Given the description of an element on the screen output the (x, y) to click on. 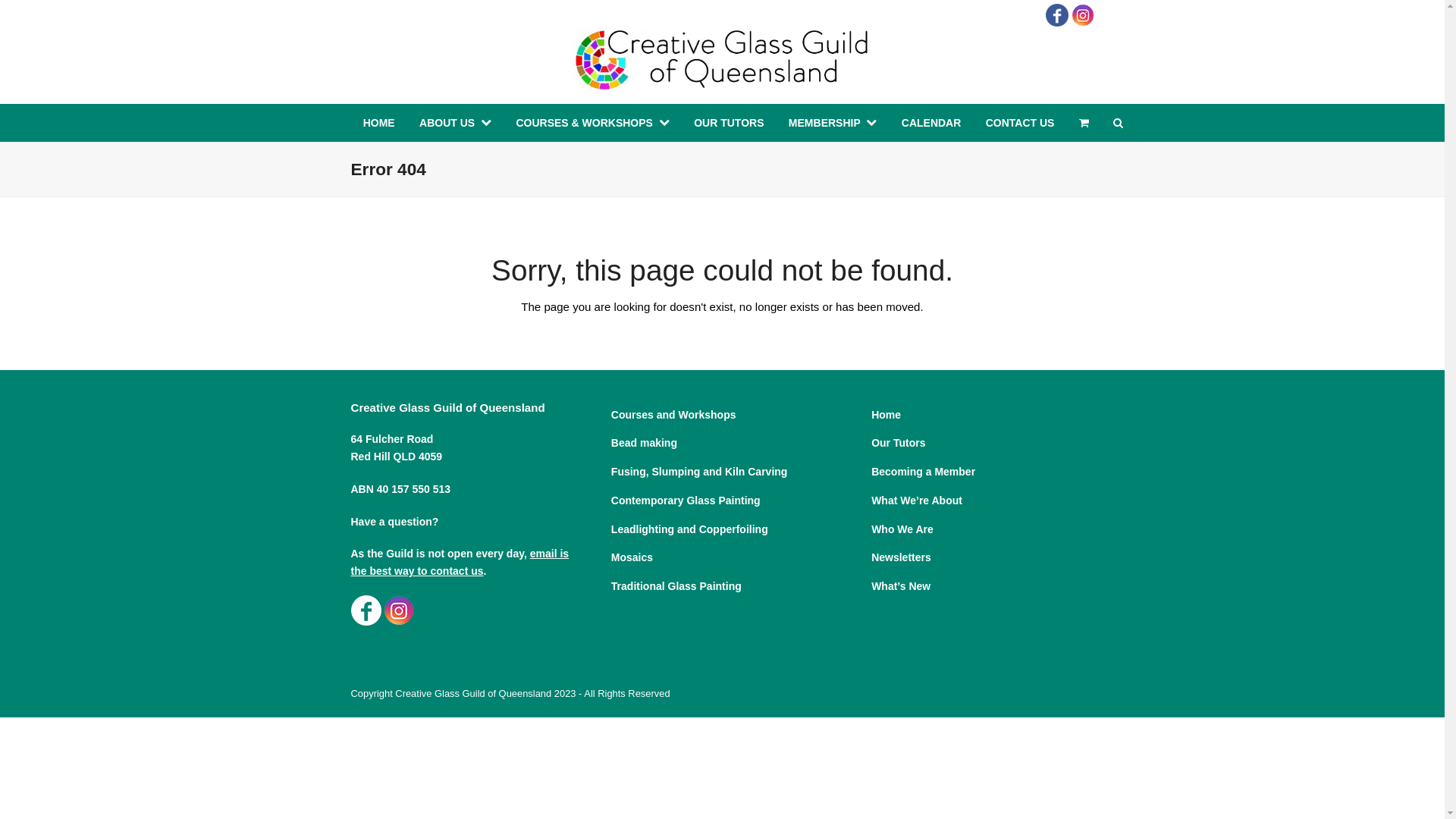
Leadlighting and Copperfoiling Element type: text (689, 529)
Fusing, Slumping and Kiln Carving Element type: text (699, 471)
ABOUT US Element type: text (455, 122)
Mosaics Element type: text (631, 557)
Becoming a Member Element type: text (923, 471)
Contemporary Glass Painting Element type: text (685, 500)
MEMBERSHIP Element type: text (832, 122)
Who We Are Element type: text (902, 529)
CONTACT US Element type: text (1019, 122)
Bead making Element type: text (644, 442)
Traditional Glass Painting Element type: text (676, 586)
Home Element type: text (885, 414)
email is the best way to contact us Element type: text (459, 562)
Our Tutors Element type: text (898, 442)
CALENDAR Element type: text (931, 122)
HOME Element type: text (378, 122)
Courses and Workshops Element type: text (673, 414)
Newsletters Element type: text (901, 557)
OUR TUTORS Element type: text (728, 122)
Creative Glass Guild of Queensland Element type: text (473, 693)
COURSES & WORKSHOPS Element type: text (592, 122)
